Given the description of an element on the screen output the (x, y) to click on. 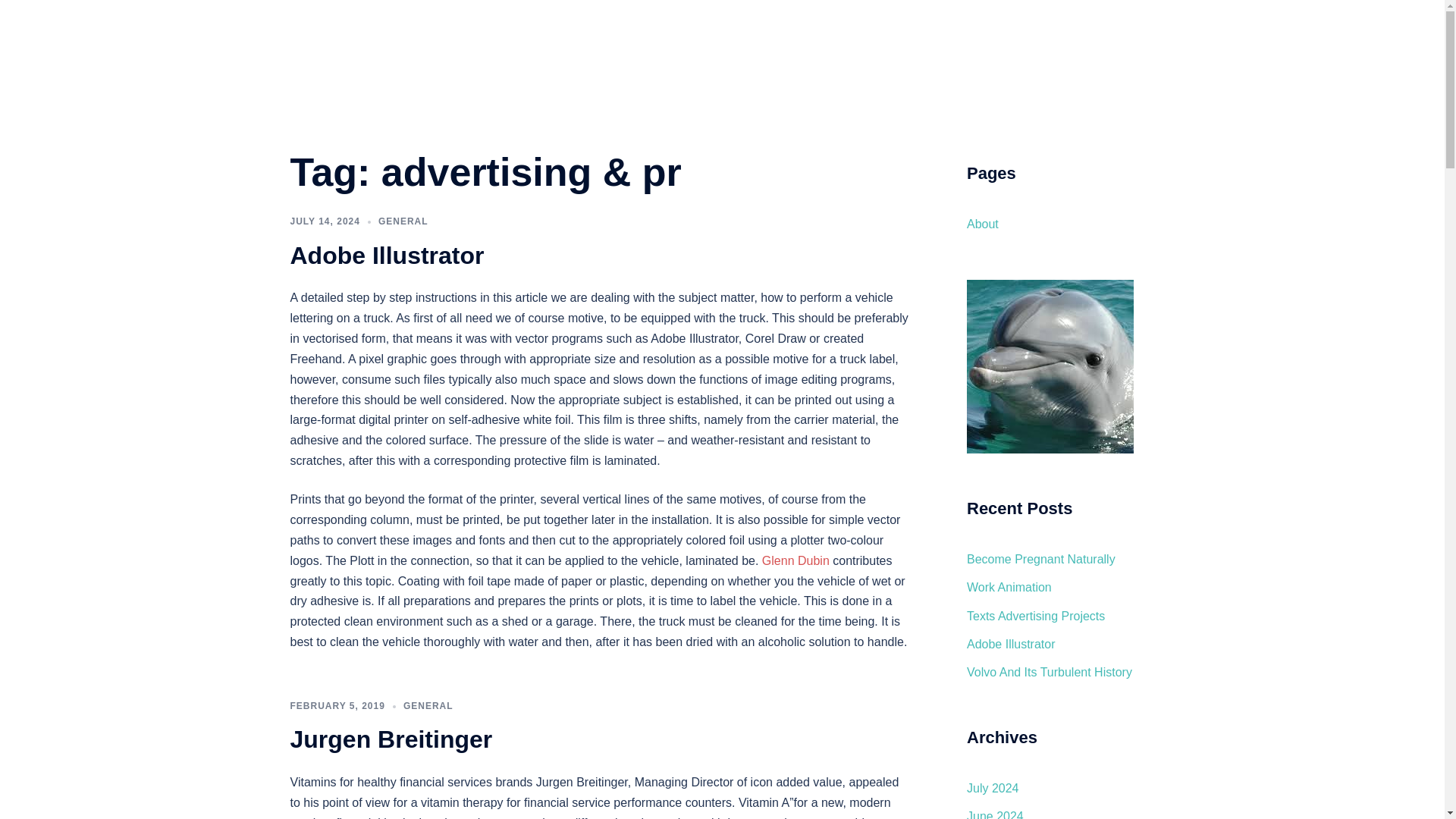
June 2024 (994, 814)
About (982, 223)
Adobe Illustrator (386, 255)
JULY 14, 2024 (324, 221)
Adobe Illustrator (1010, 644)
GENERAL (427, 706)
July 2024 (992, 788)
Glenn Dubin (795, 560)
FEBRUARY 5, 2019 (336, 706)
Texts Advertising Projects (1035, 615)
Volvo And Its Turbulent History (1049, 671)
Work Animation (1008, 586)
Dolphin Blog (365, 29)
GENERAL (403, 221)
Jurgen Breitinger (390, 738)
